Given the description of an element on the screen output the (x, y) to click on. 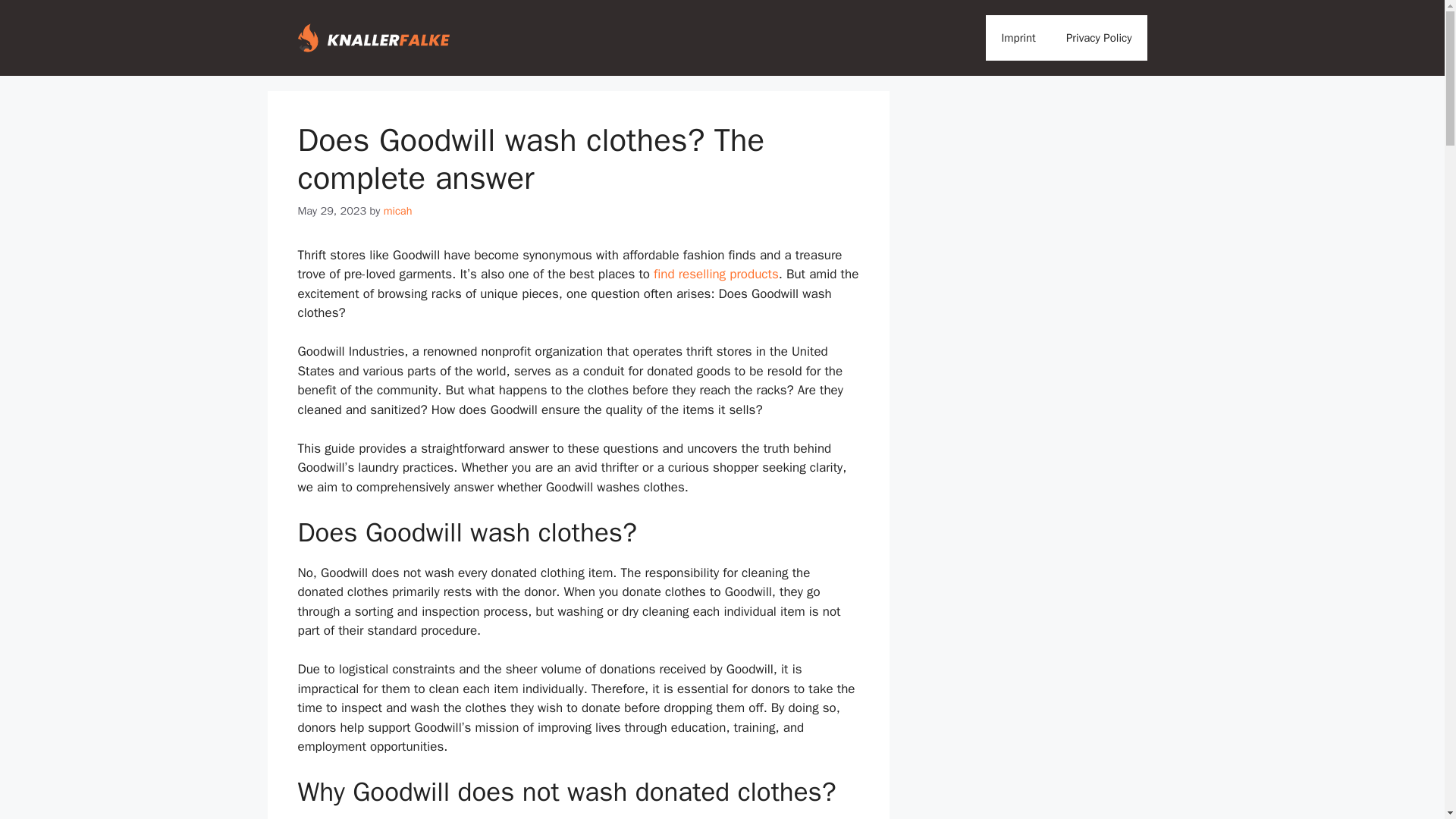
find reselling products (715, 273)
View all posts by micah (398, 210)
Privacy Policy (1099, 37)
Imprint (1018, 37)
micah (398, 210)
